Given the description of an element on the screen output the (x, y) to click on. 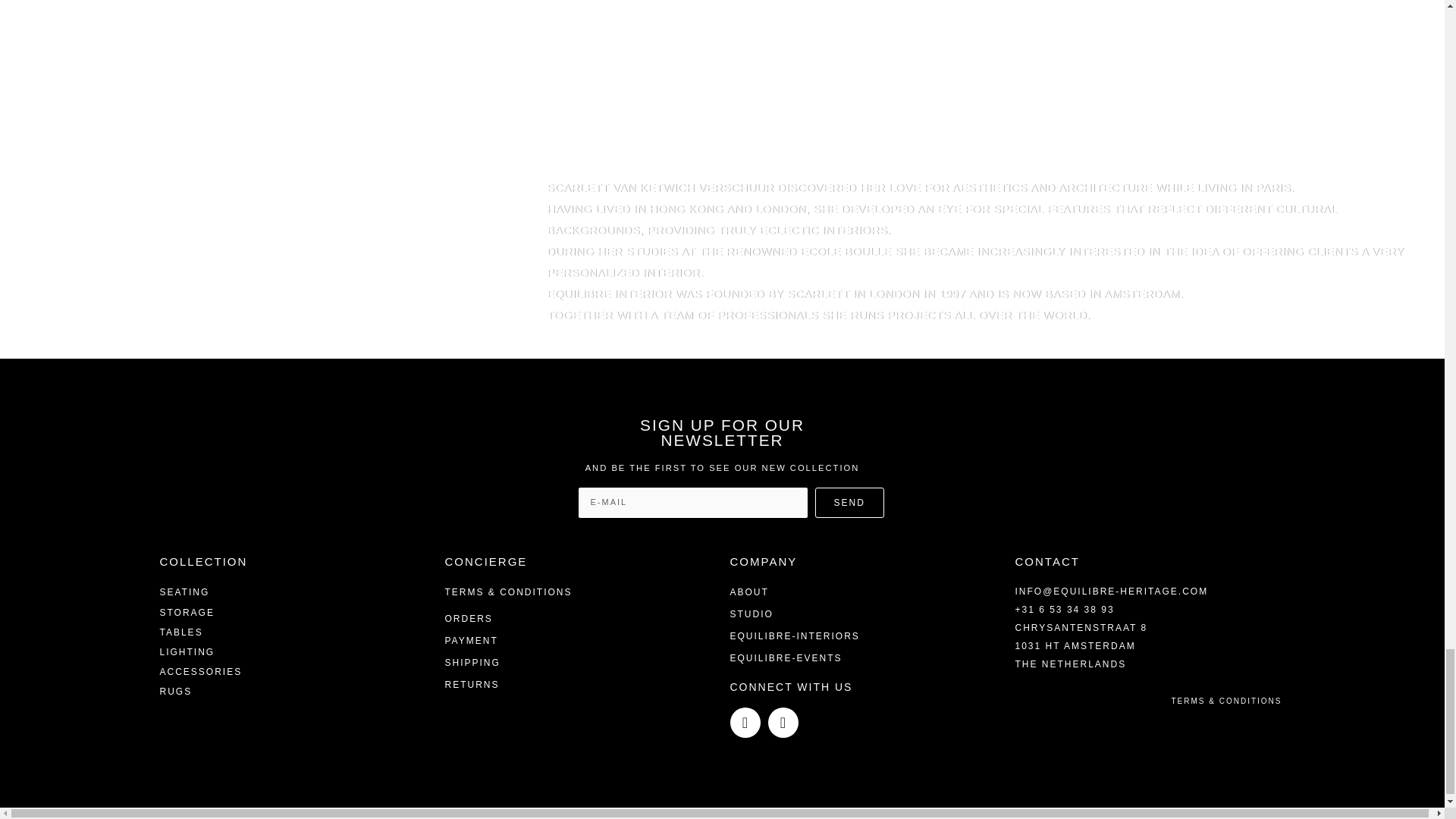
STORAGE (186, 612)
SEND (848, 502)
LIGHTING (186, 651)
RUGS (175, 691)
ACCESSORIES (199, 671)
SEATING (183, 592)
TABLES (180, 632)
